Given the description of an element on the screen output the (x, y) to click on. 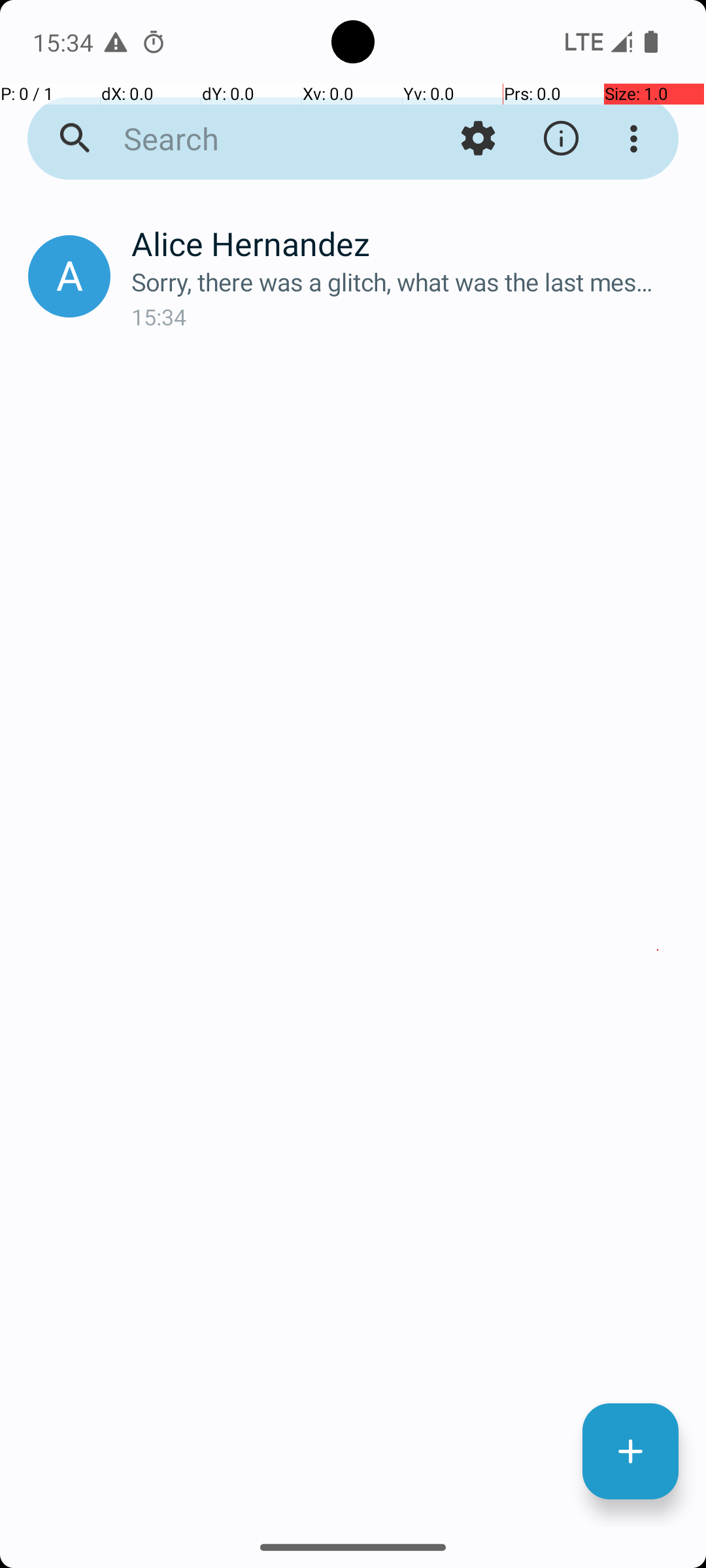
Alice Hernandez Element type: android.widget.TextView (408, 242)
Sorry, there was a glitch, what was the last message you sent me? Element type: android.widget.TextView (408, 281)
